Given the description of an element on the screen output the (x, y) to click on. 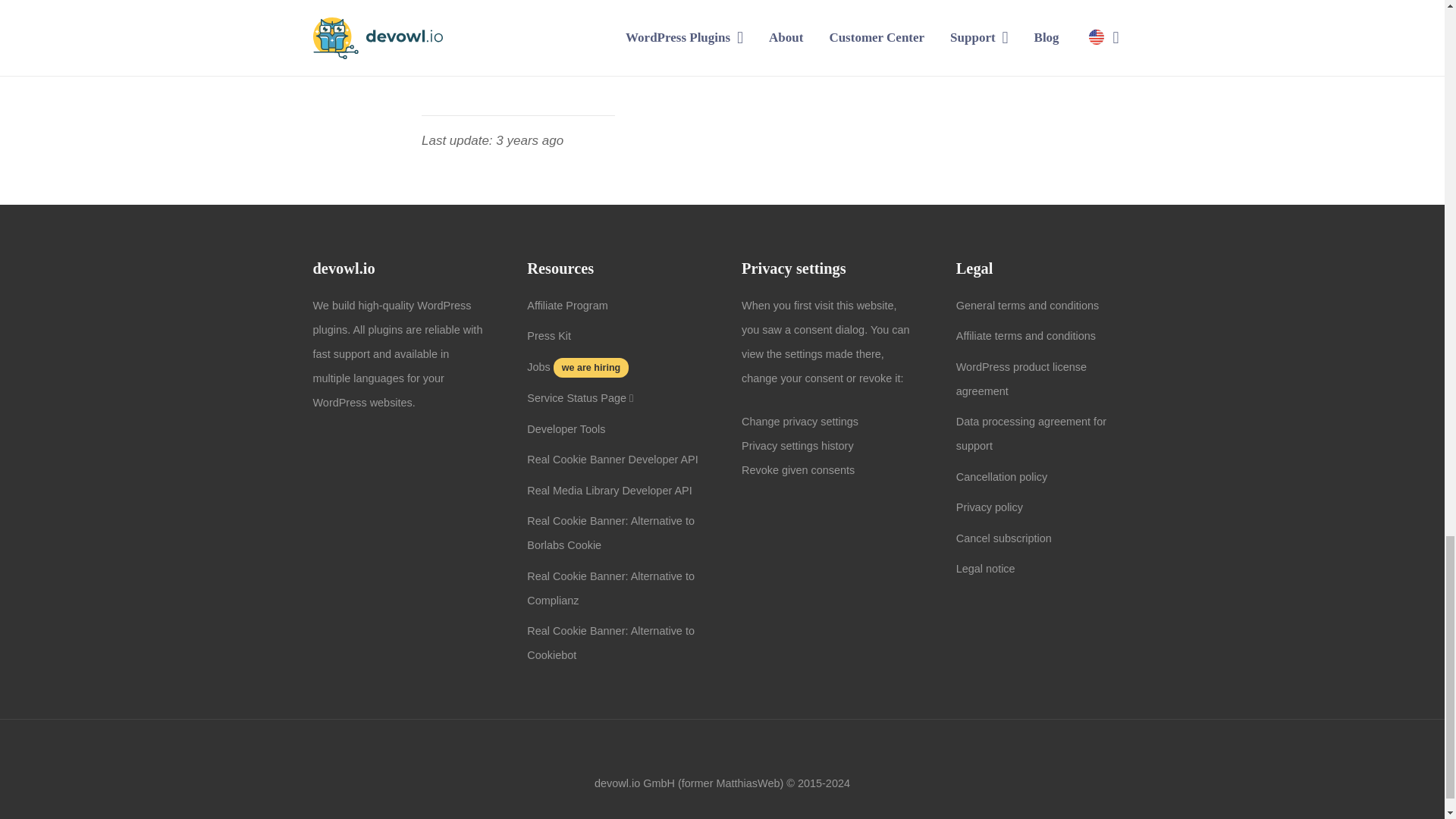
Affiliate terms and conditions (1026, 336)
Real Cookie Banner: Alternative to Cookiebot (610, 642)
Privacy settings history (797, 445)
we are hiring (589, 367)
Jobs (538, 367)
Real Cookie Banner Developer API (612, 459)
General terms and conditions (1027, 305)
Real Cookie Banner: Alternative to Complianz (610, 588)
Change privacy settings (800, 421)
Press Kit (548, 336)
